Given the description of an element on the screen output the (x, y) to click on. 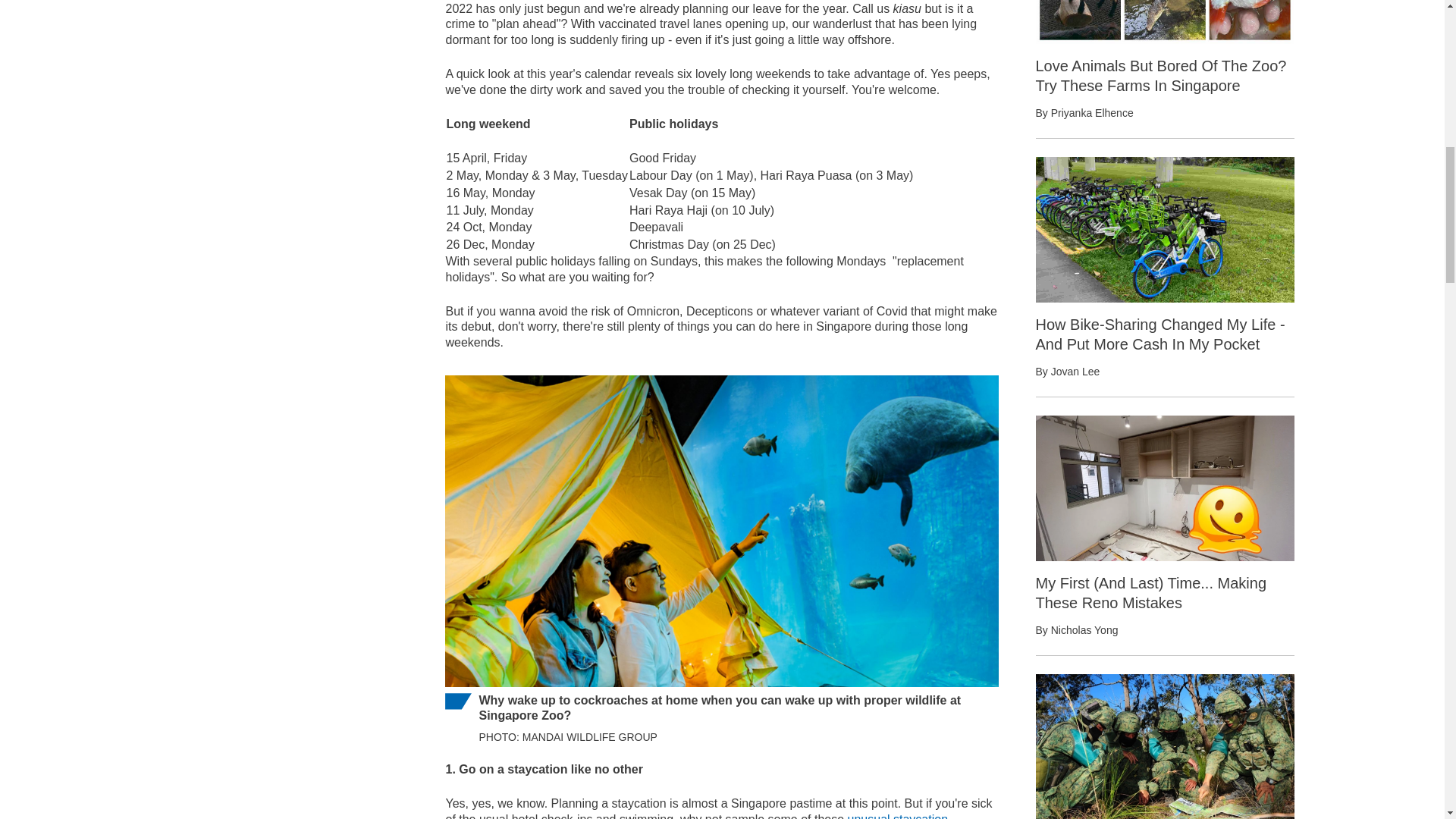
Life Lessons Every Recruit Will Learn From Field Camp (1164, 746)
